Given the description of an element on the screen output the (x, y) to click on. 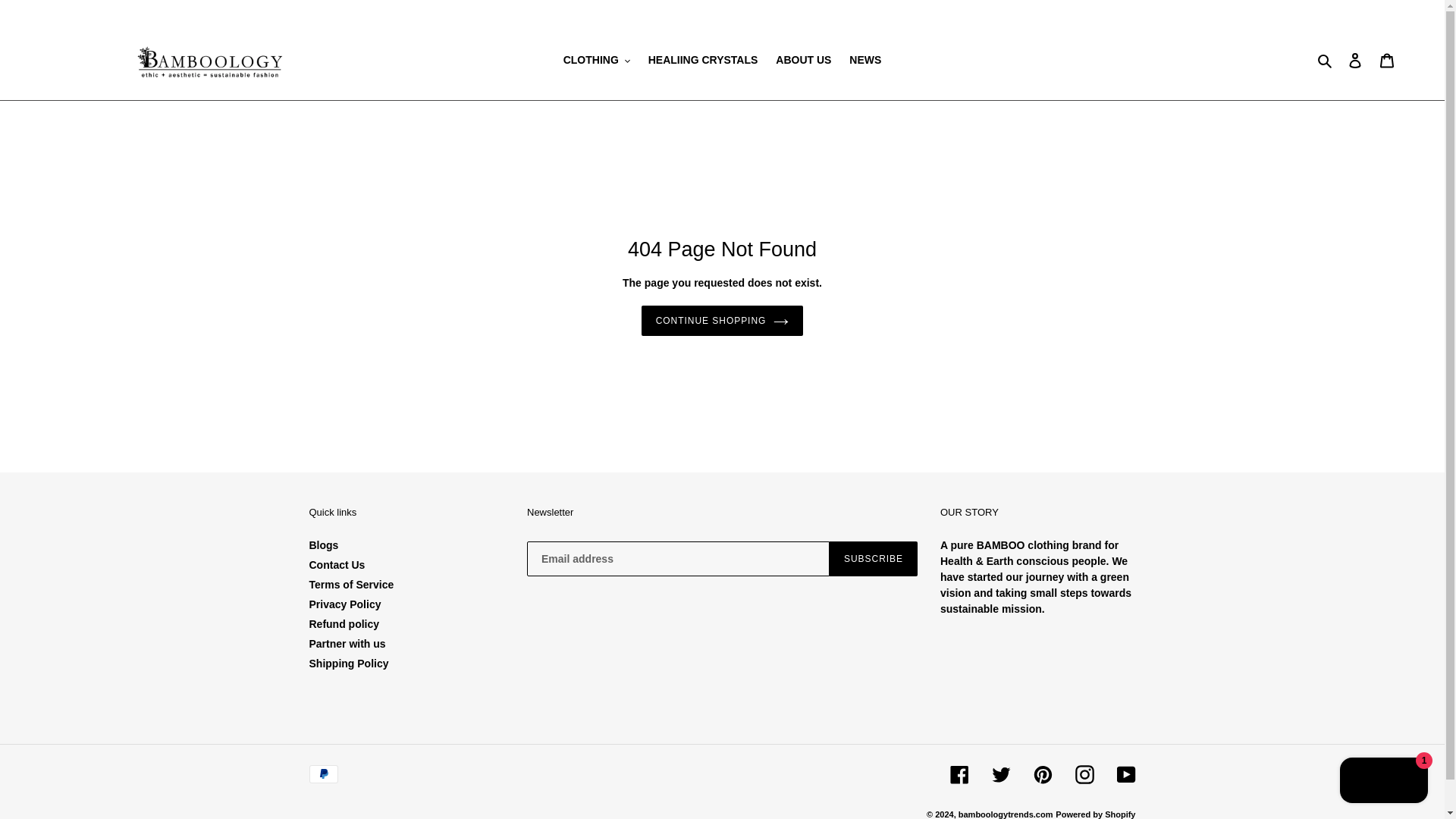
NEWS (864, 59)
Shopify online store chat (1383, 781)
Refund policy (344, 623)
Twitter (1000, 773)
CONTINUE SHOPPING (722, 320)
Privacy Policy (344, 604)
ABOUT US (803, 59)
Pinterest (1041, 773)
Shipping Policy (348, 663)
Cart (1387, 60)
Partner with us (346, 644)
Terms of Service (351, 584)
CLOTHING (596, 59)
Search (1326, 59)
Blogs (323, 544)
